Given the description of an element on the screen output the (x, y) to click on. 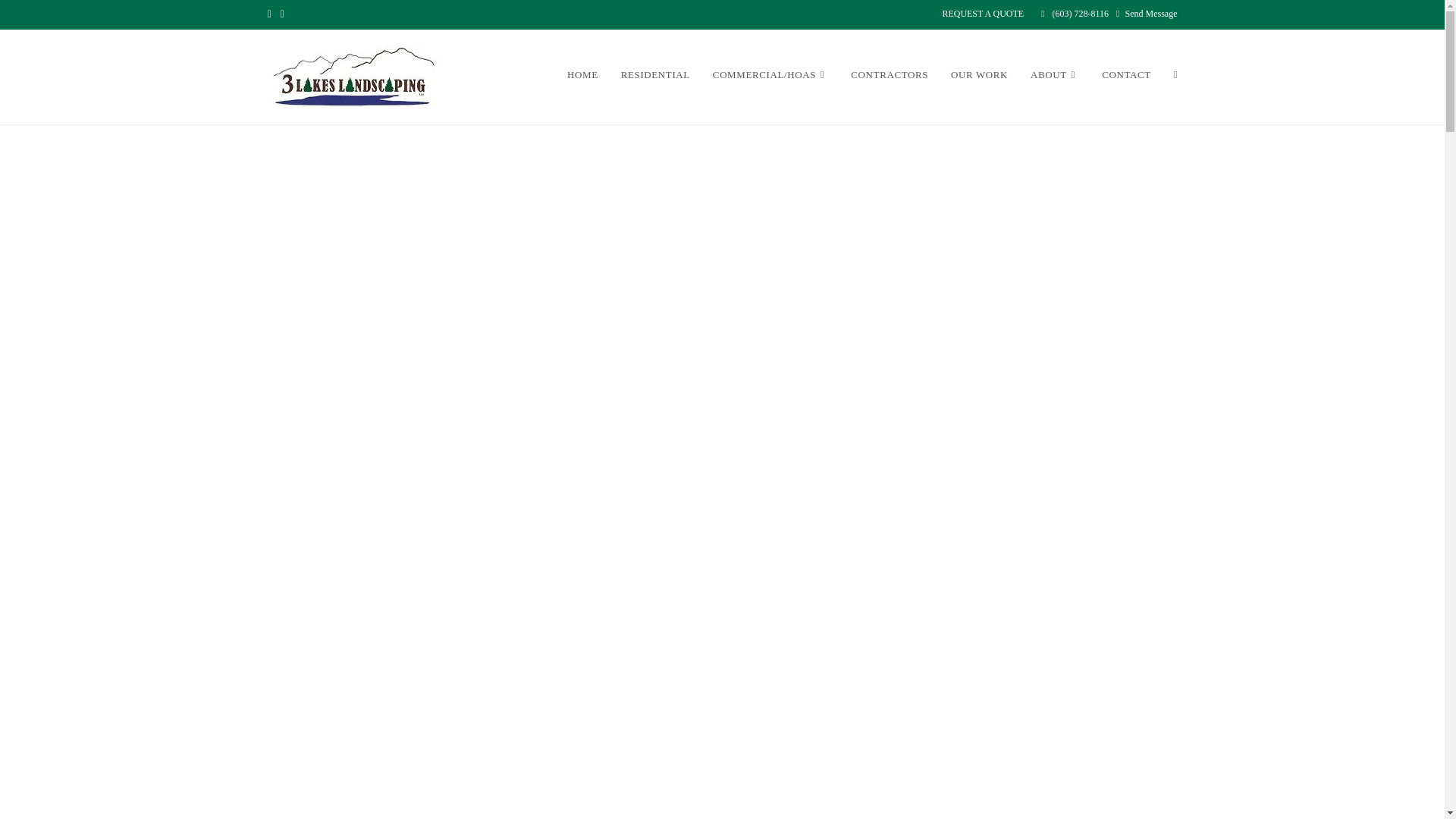
ABOUT Element type: text (1054, 74)
CONTRACTORS Element type: text (889, 74)
REQUEST A QUOTE Element type: text (982, 14)
COMMERCIAL/HOAS Element type: text (770, 74)
Send Message Element type: text (1151, 13)
CONTACT Element type: text (1126, 74)
RESIDENTIAL Element type: text (655, 74)
HOME Element type: text (582, 74)
OUR WORK Element type: text (979, 74)
(603) 728-8116 Element type: text (1080, 13)
